Given the description of an element on the screen output the (x, y) to click on. 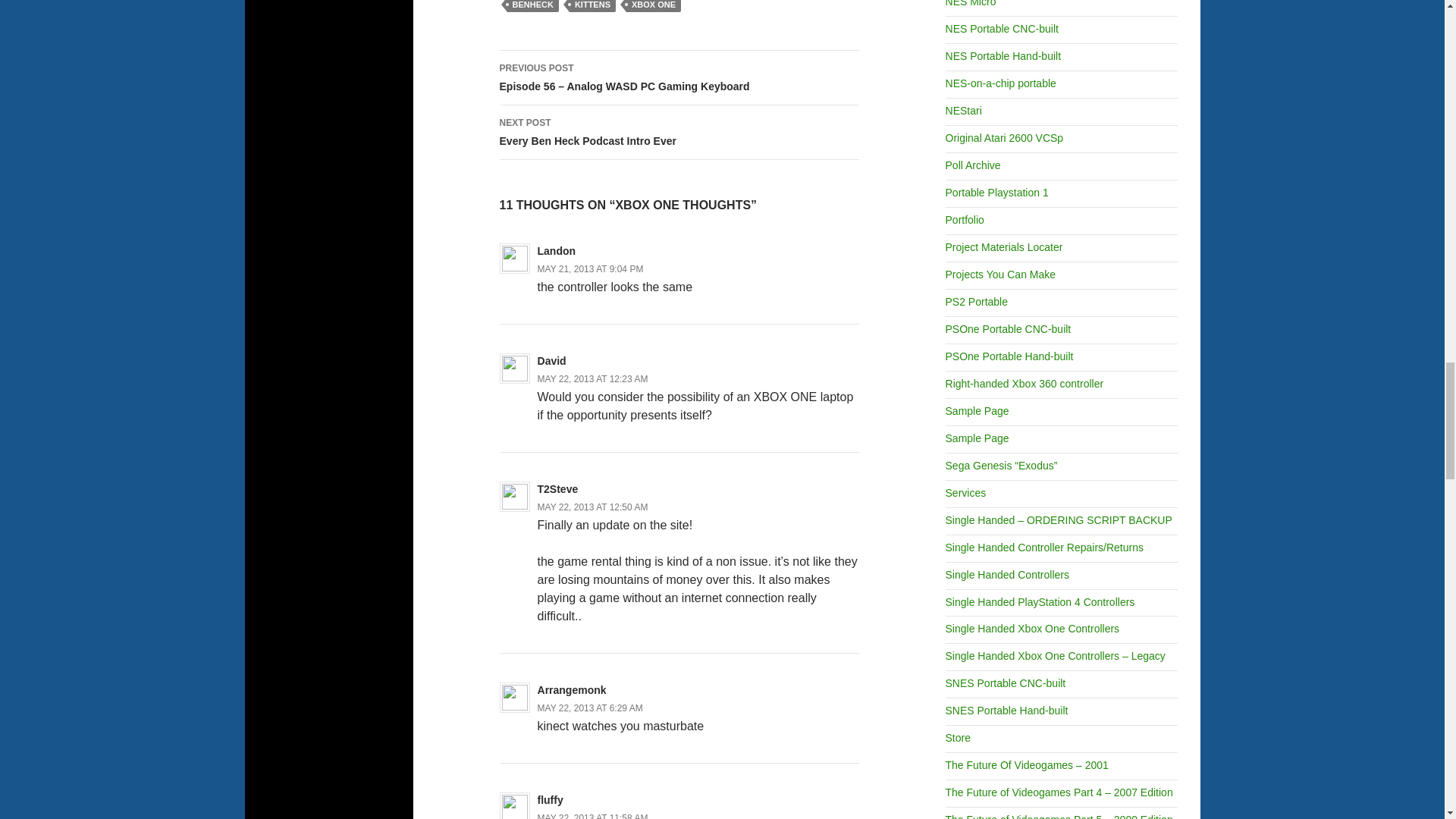
MAY 21, 2013 AT 9:04 PM (590, 268)
MAY 22, 2013 AT 12:50 AM (592, 507)
MAY 22, 2013 AT 6:29 AM (590, 707)
MAY 22, 2013 AT 12:23 AM (592, 378)
fluffy (550, 799)
XBOX ONE (653, 6)
MAY 22, 2013 AT 11:58 AM (592, 816)
KITTENS (592, 6)
BENHECK (531, 6)
